Given the description of an element on the screen output the (x, y) to click on. 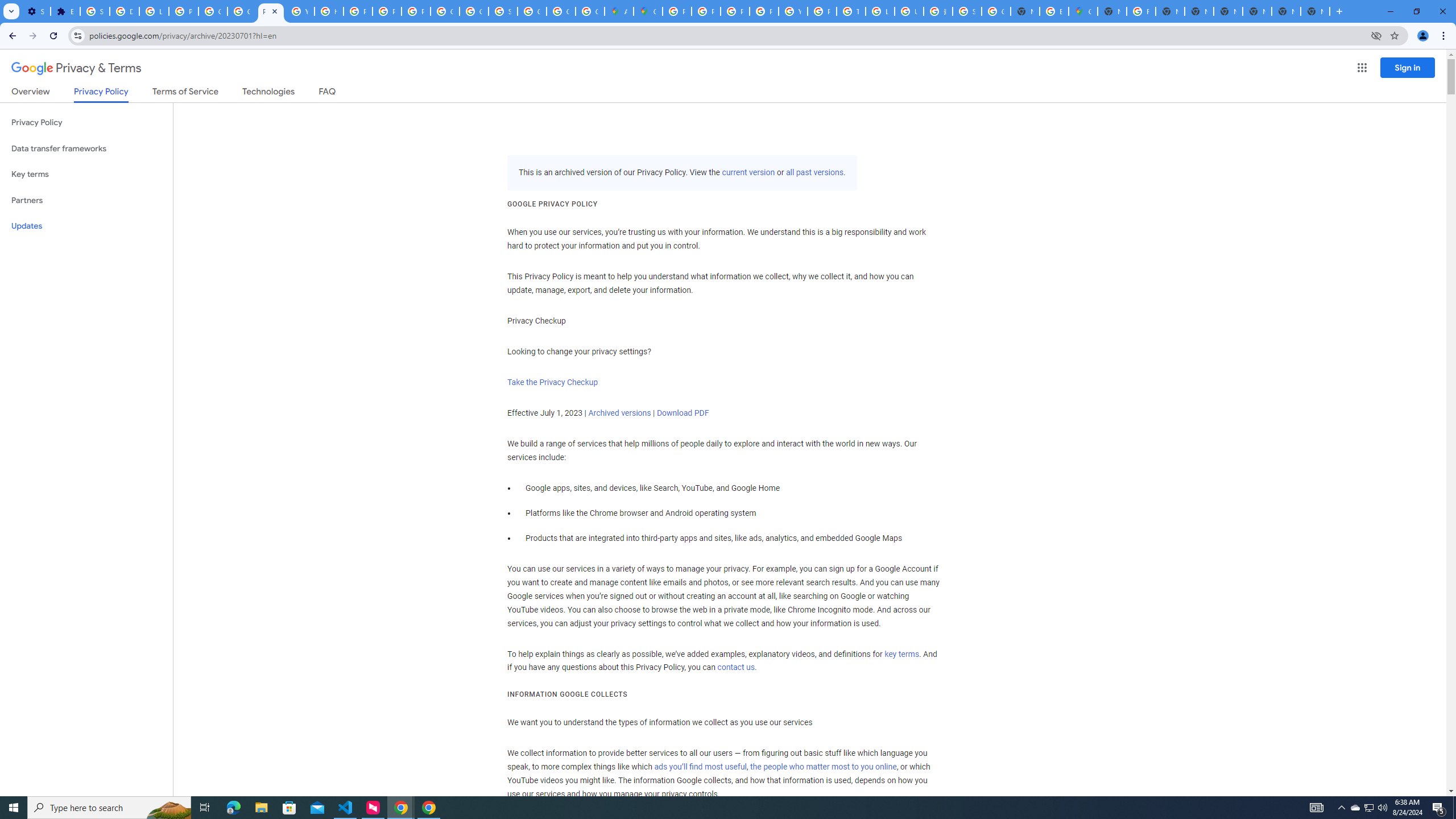
Policy Accountability and Transparency - Transparency Center (677, 11)
Archived versions (619, 412)
the people who matter most to you online (822, 766)
New Tab (1315, 11)
Key terms (86, 174)
